Given the description of an element on the screen output the (x, y) to click on. 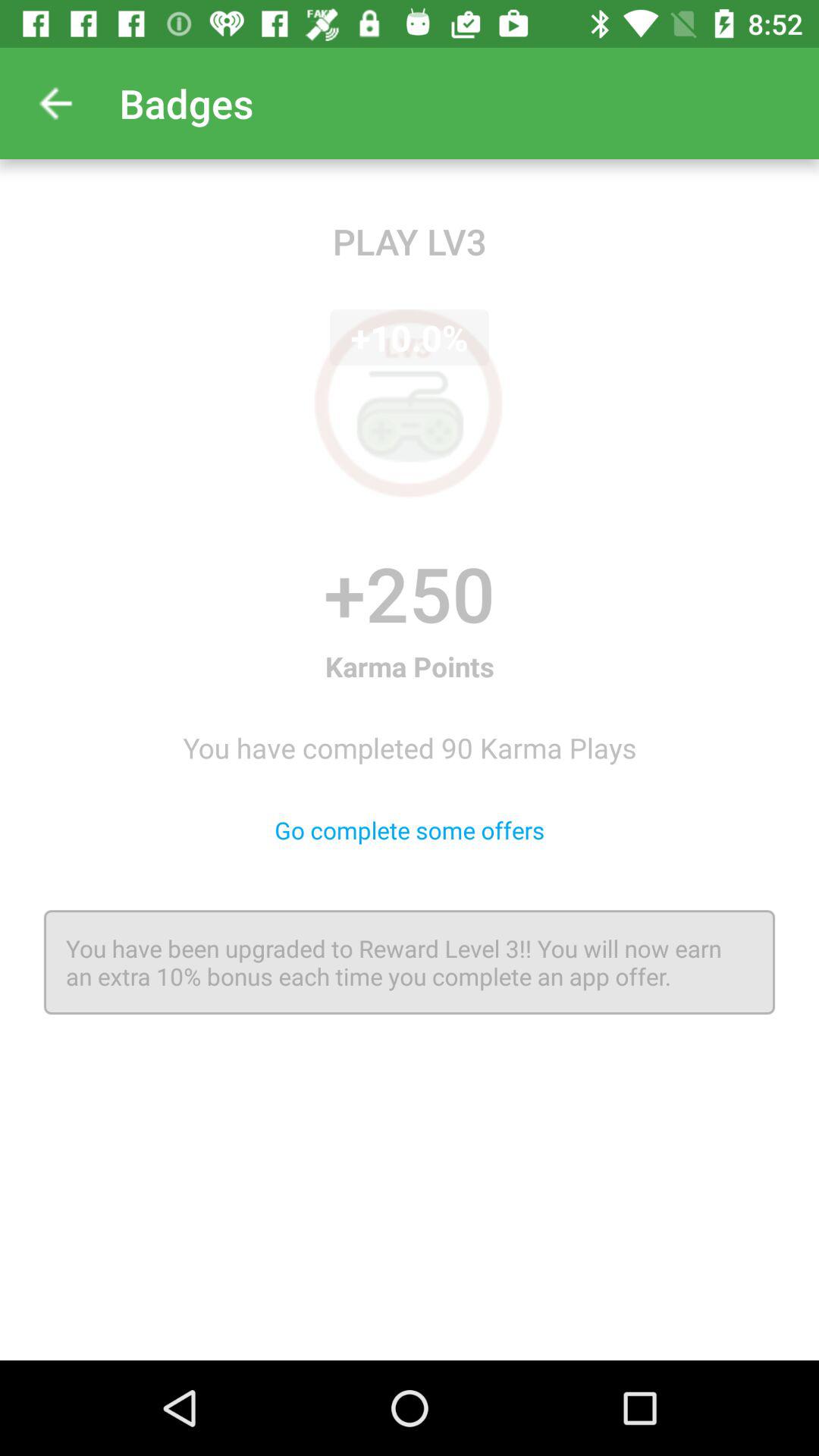
turn on icon below you have completed (409, 830)
